Given the description of an element on the screen output the (x, y) to click on. 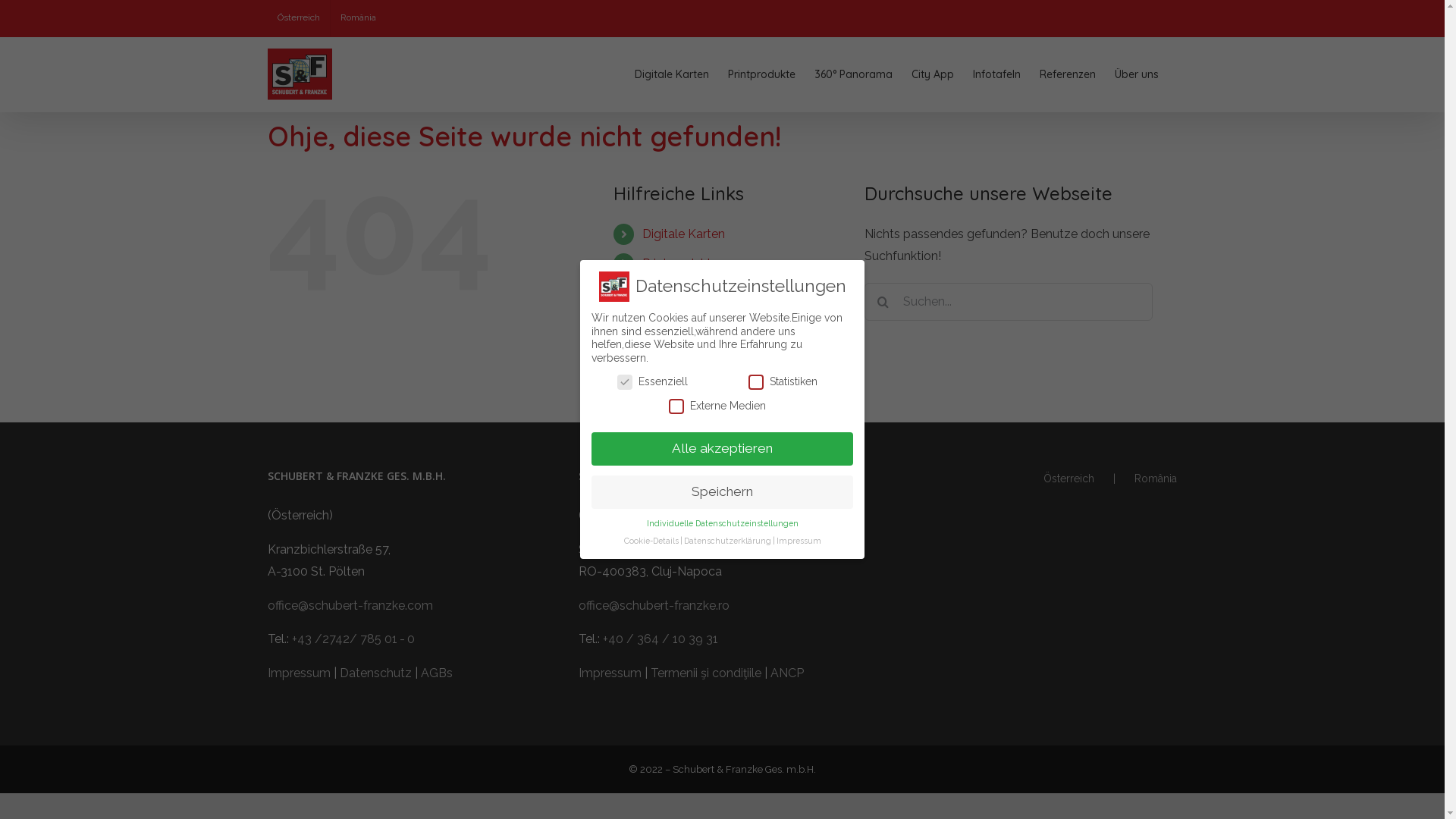
Impressum Element type: text (297, 672)
Impressum Element type: text (609, 672)
+40 / 364 / 10 39 31 Element type: text (660, 638)
ANCP Element type: text (786, 672)
office@schubert-franzke.ro Element type: text (653, 605)
City App Element type: text (932, 74)
City App Element type: text (666, 320)
Printprodukte Element type: text (680, 263)
Digitale Karten Element type: text (670, 74)
AGBs Element type: text (435, 672)
Infotafeln Element type: text (669, 349)
Speichern Element type: text (722, 491)
office@schubert-franzke.com Element type: text (349, 605)
Cookie-Details Element type: text (650, 540)
Impressum Element type: text (798, 540)
Datenschutz Element type: text (375, 672)
Infotafeln Element type: text (995, 74)
Individuelle Datenschutzeinstellungen Element type: text (721, 522)
Printprodukte Element type: text (761, 74)
Referenzen Element type: text (674, 378)
Alle akzeptieren Element type: text (722, 448)
Digitale Karten Element type: text (683, 233)
Referenzen Element type: text (1066, 74)
